Given the description of an element on the screen output the (x, y) to click on. 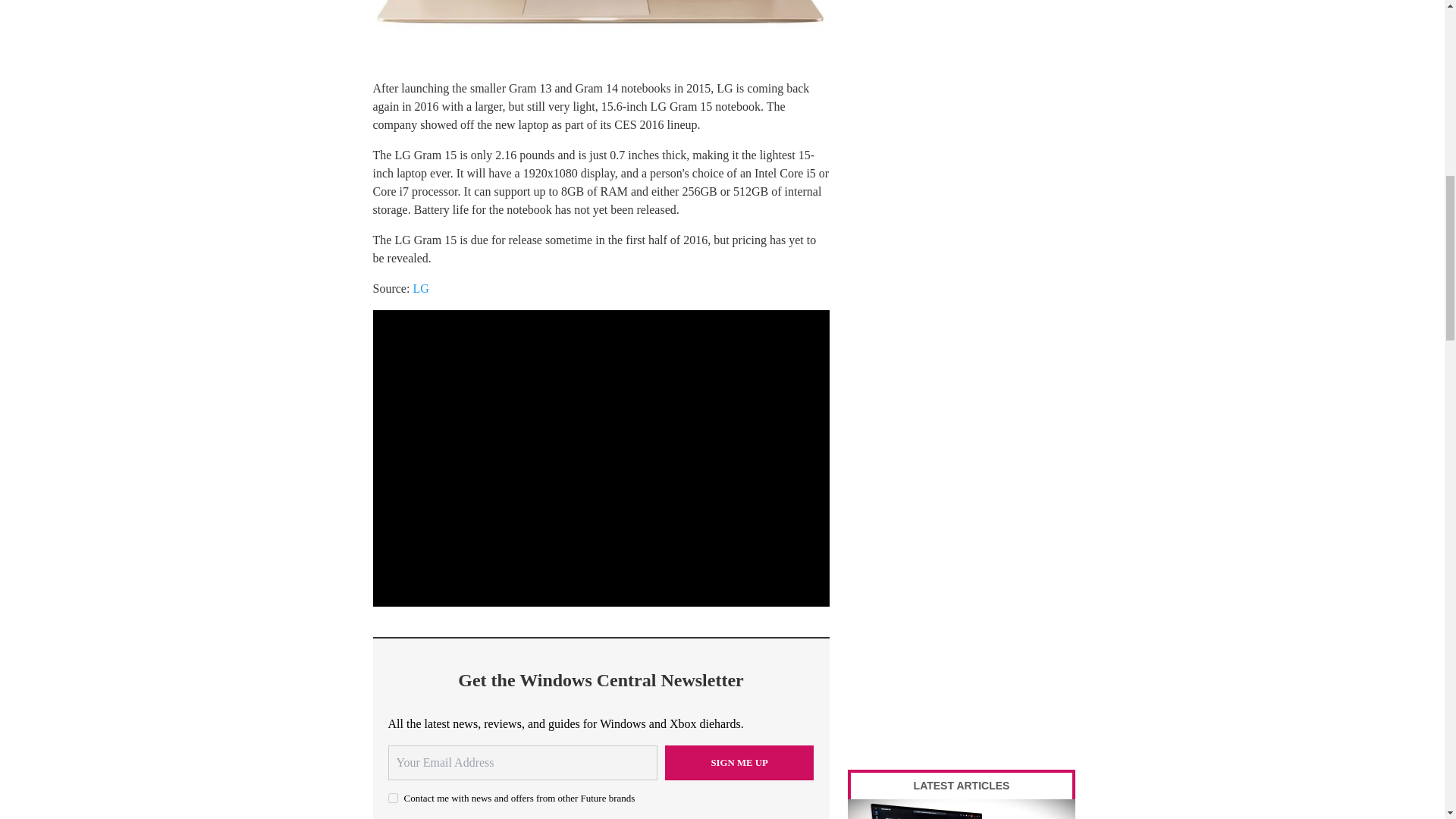
Sign me up (739, 762)
on (392, 798)
LG (420, 287)
Sign me up (739, 762)
